Given the description of an element on the screen output the (x, y) to click on. 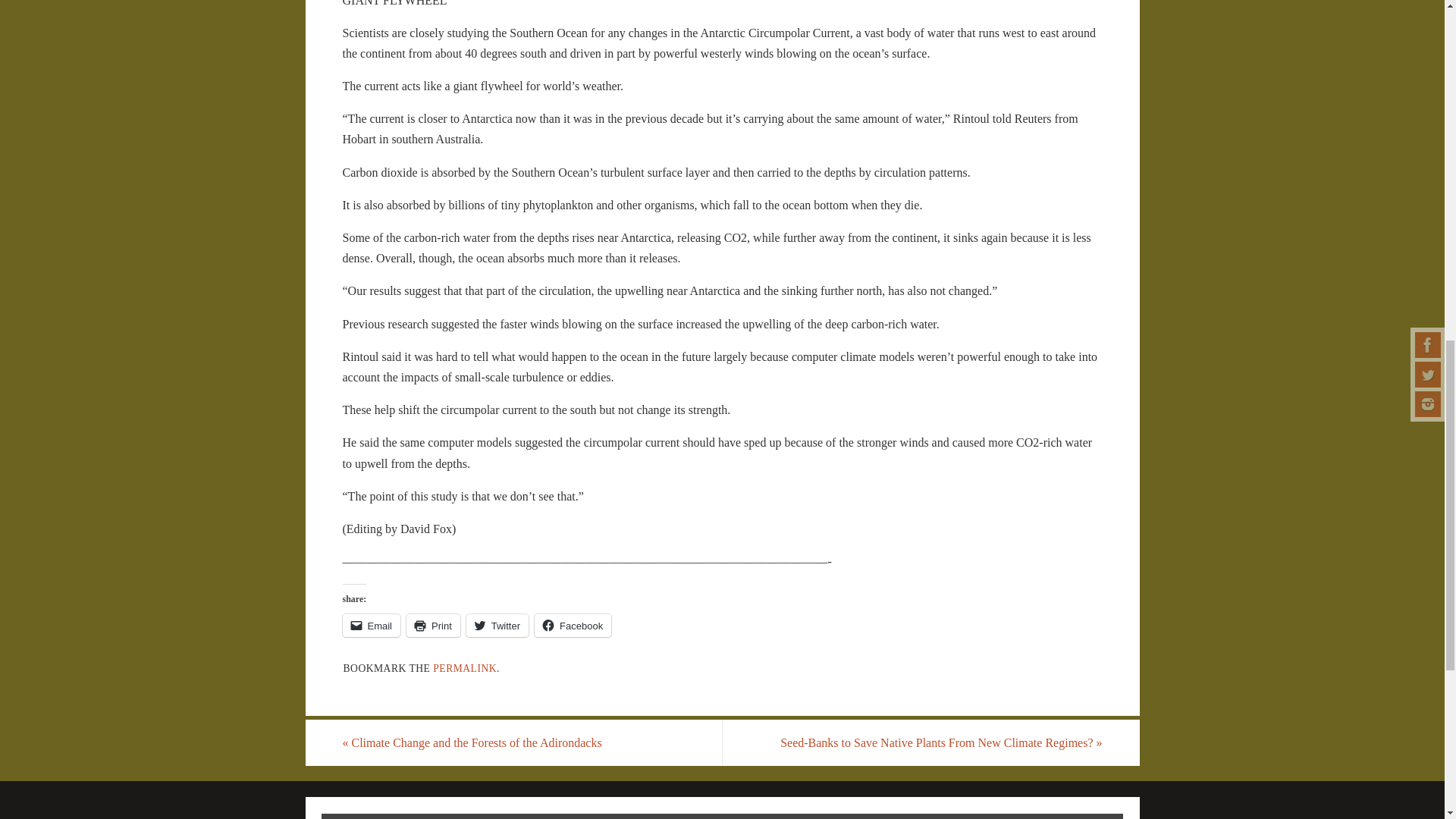
Click to print (433, 625)
Click to email a link to a friend (371, 625)
Click to share on Twitter (496, 625)
Click to share on Facebook (572, 625)
